Given the description of an element on the screen output the (x, y) to click on. 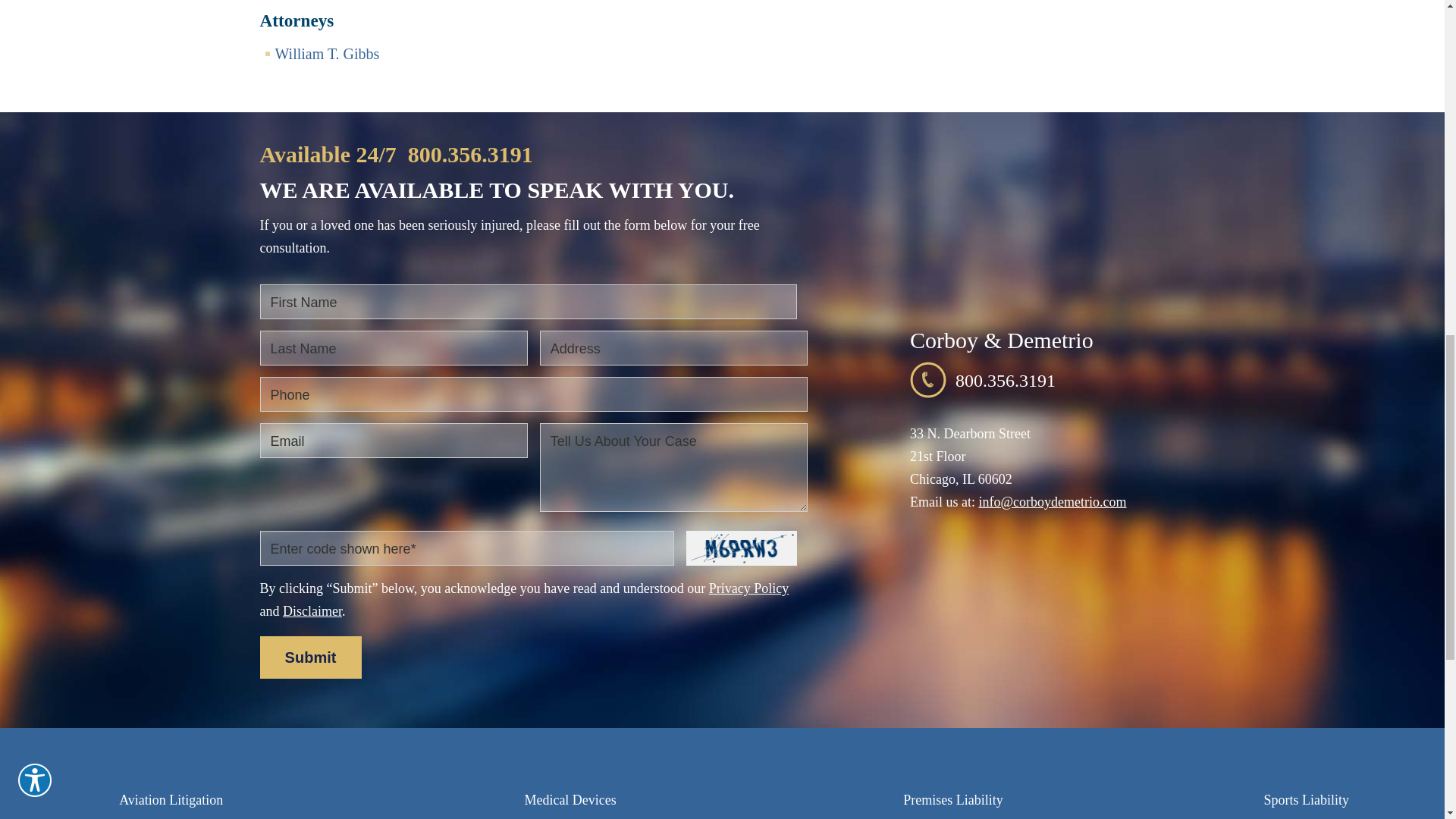
Submit (310, 657)
William T. Gibbs (326, 53)
